Given the description of an element on the screen output the (x, y) to click on. 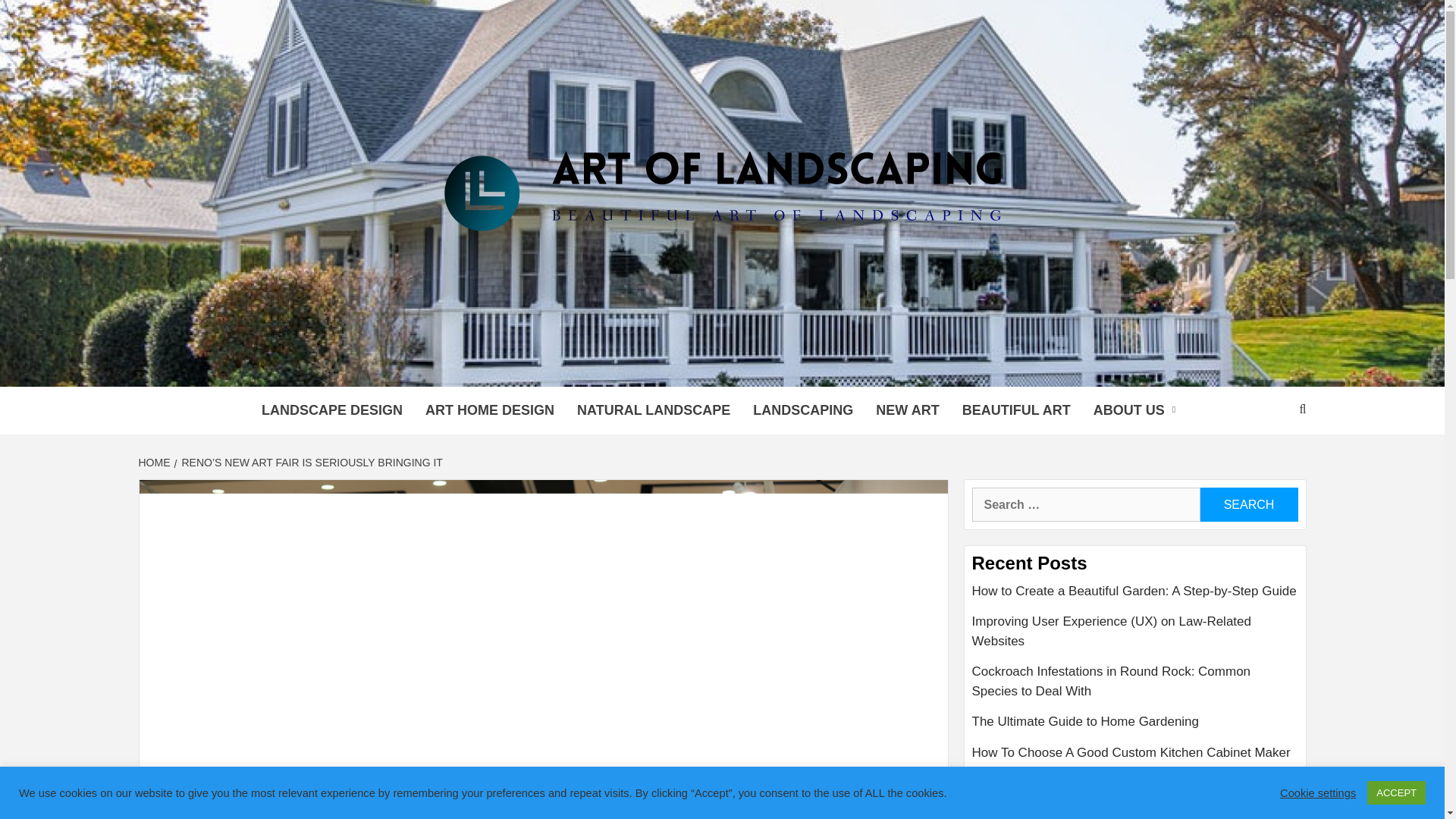
Search (1248, 504)
LANDSCAPING (802, 410)
ABOUT US (1137, 410)
BEAUTIFUL ART (1015, 410)
NATURAL LANDSCAPE (653, 410)
NEW ART (907, 410)
ART HOME DESIGN (489, 410)
How To Choose A Good Custom Kitchen Cabinet Maker (1135, 752)
Search (1248, 504)
How to Create a Beautiful Garden: A Step-by-Step Guide (1135, 596)
HOME (155, 462)
ART OF LANDSCAPING (571, 367)
The Ultimate Guide to Home Gardening (1135, 726)
Search (1248, 504)
